Given the description of an element on the screen output the (x, y) to click on. 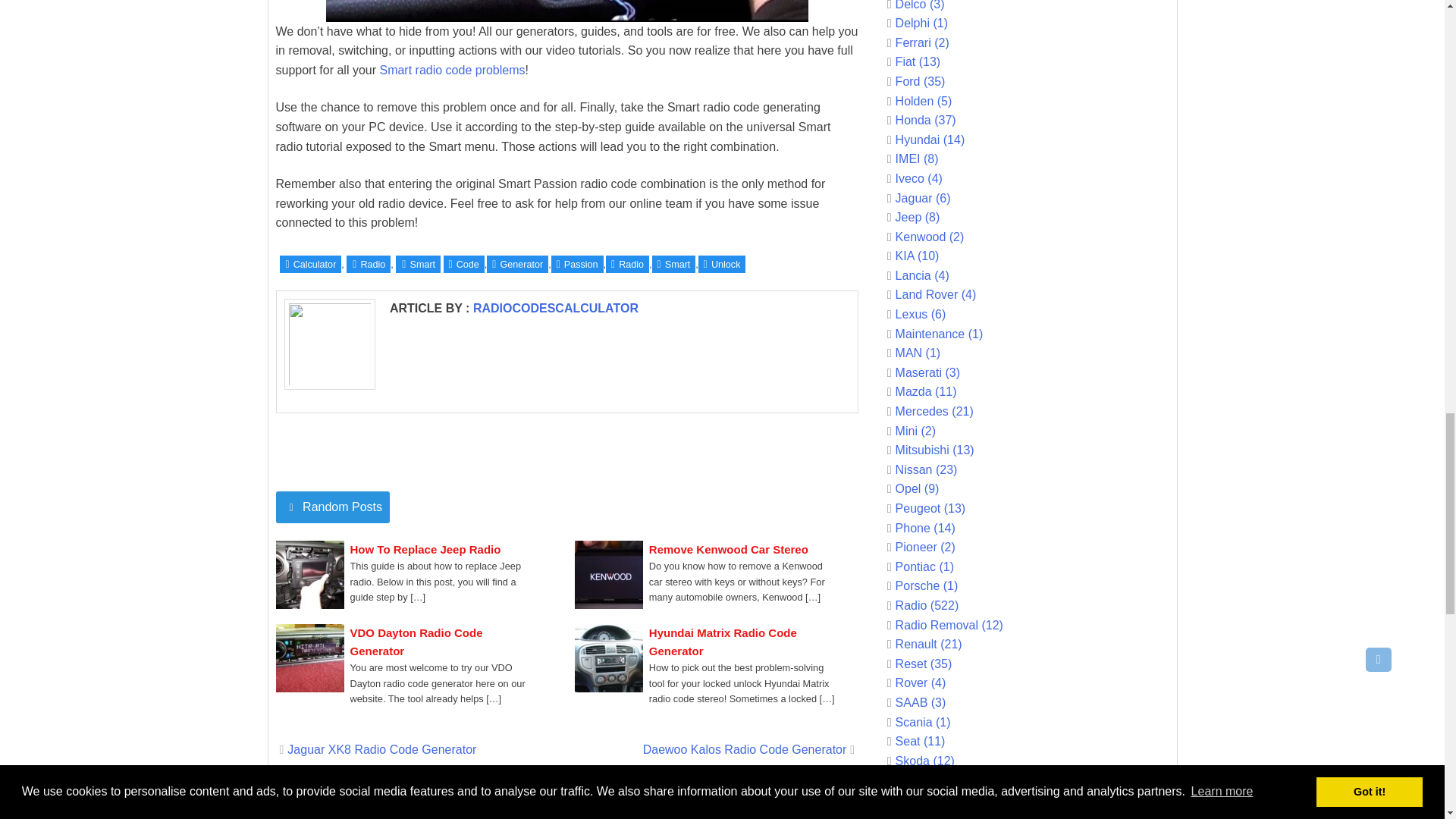
How To Replace Jeep Radio (425, 549)
Remove Kenwood Car Stereo (728, 549)
Posts by radiocodescalculator (556, 308)
